Given the description of an element on the screen output the (x, y) to click on. 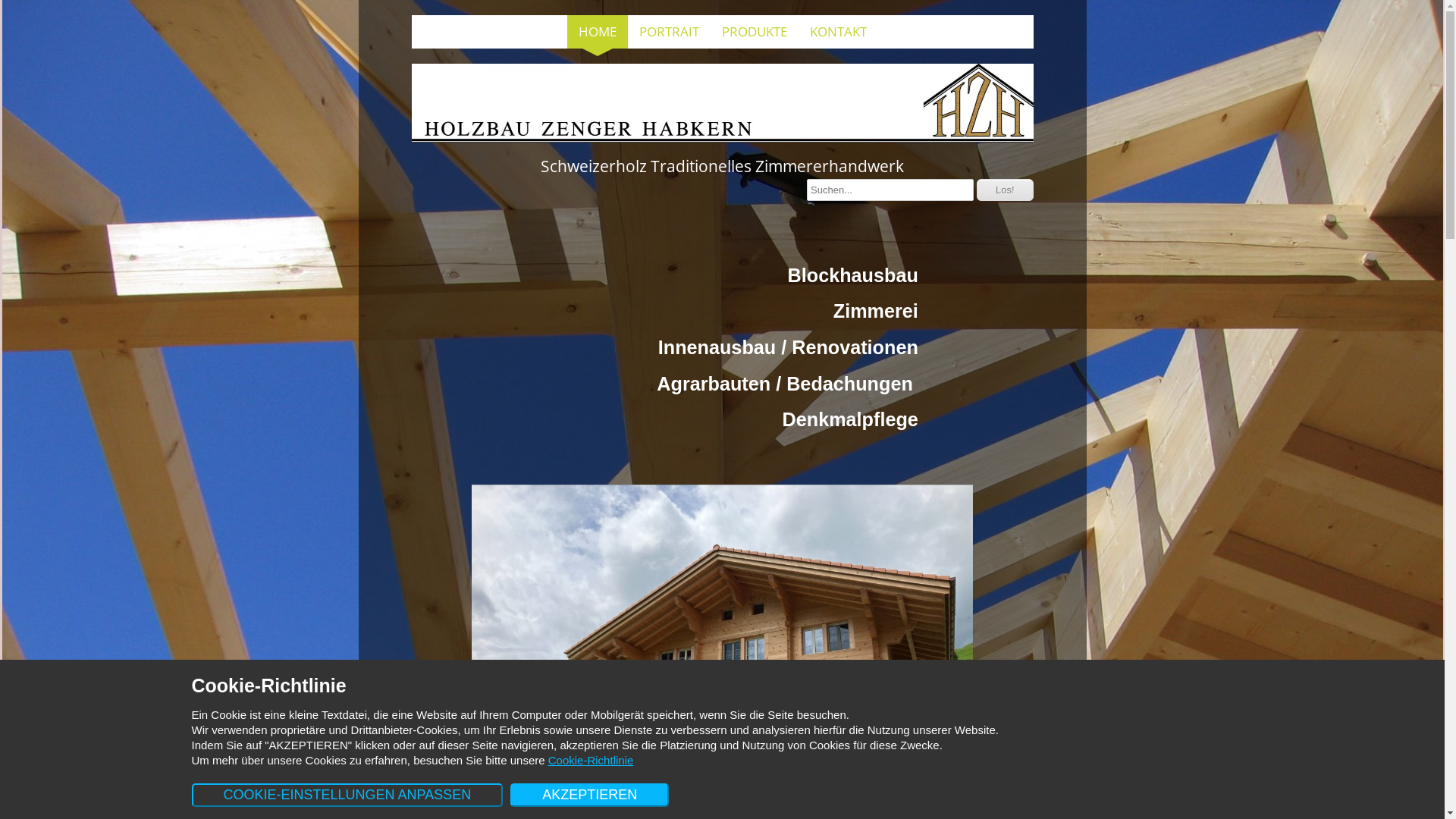
Cookie-Richtlinie Element type: text (590, 759)
Los! Element type: text (1004, 189)
COOKIE-EINSTELLUNGEN ANPASSEN Element type: text (346, 794)
HOME Element type: text (597, 31)
KONTAKT Element type: text (837, 31)
PRODUKTE Element type: text (753, 31)
AKZEPTIEREN Element type: text (589, 794)
PORTRAIT Element type: text (668, 31)
